Given the description of an element on the screen output the (x, y) to click on. 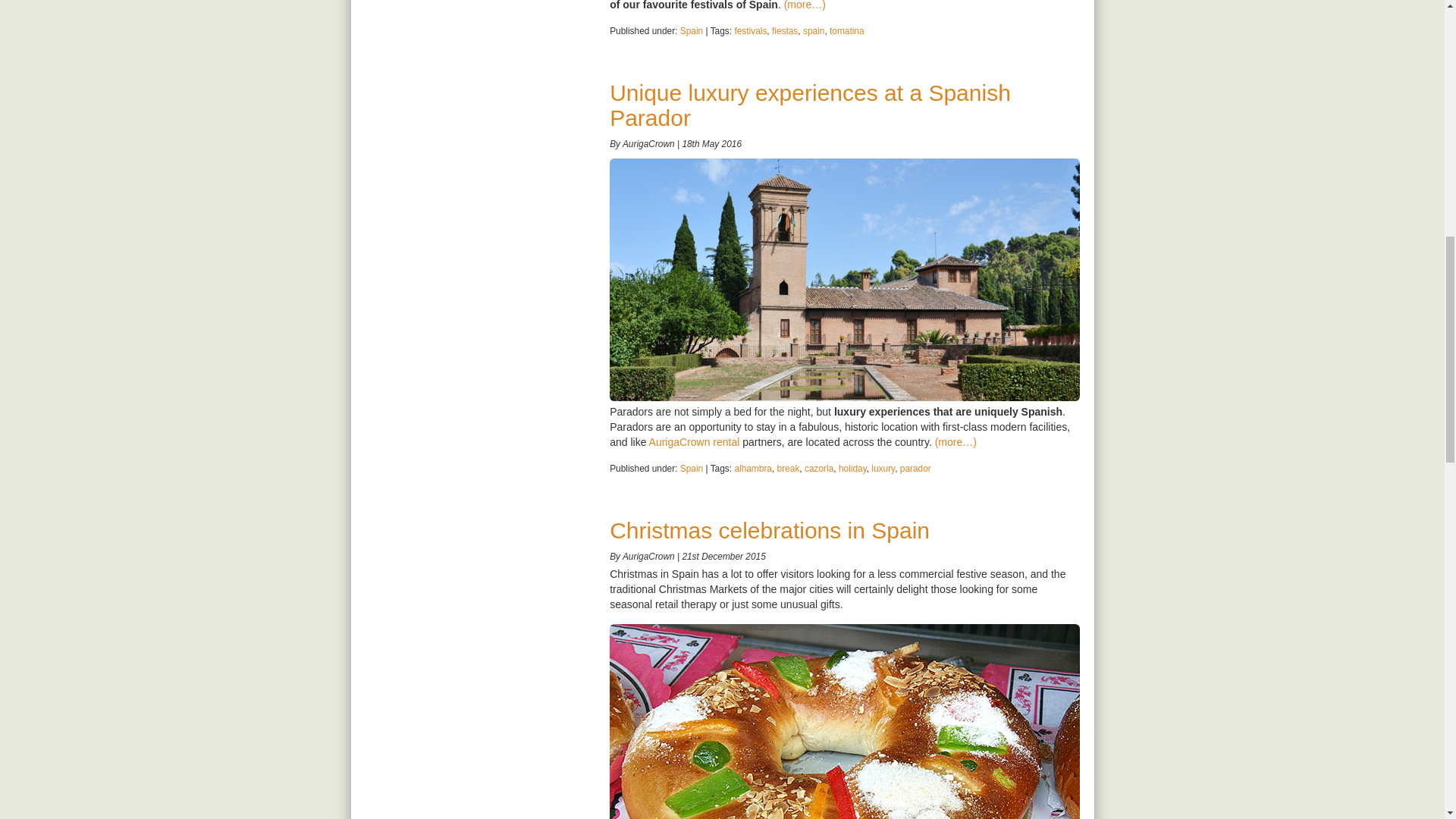
tomatina (846, 30)
Unique luxury experiences at a Spanish Parador (810, 105)
AurigaCrown rental (694, 441)
luxury (882, 468)
Spain (691, 468)
break (788, 468)
Unique luxury experiences at a Spanish Parador (810, 105)
festivals (750, 30)
cazorla (818, 468)
Christmas celebrations in Spain (770, 529)
